Given the description of an element on the screen output the (x, y) to click on. 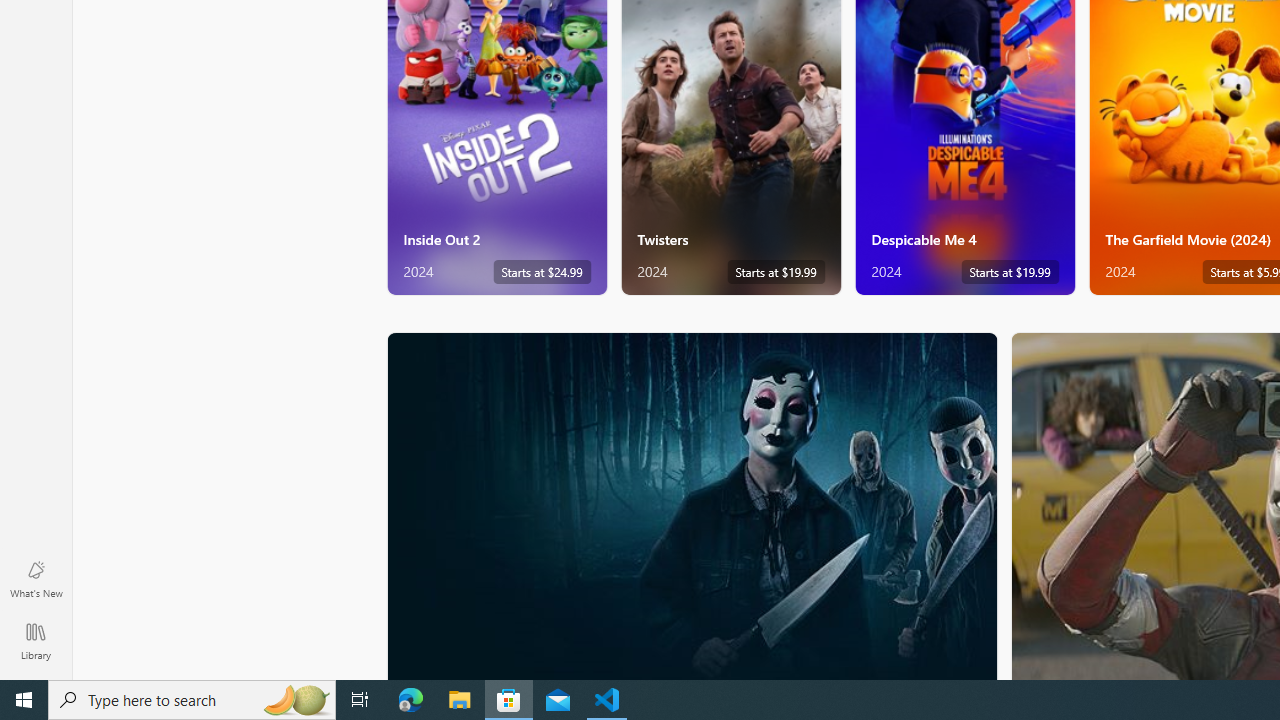
Library (35, 640)
Horror (692, 505)
AutomationID: PosterImage (690, 505)
What's New (35, 578)
